Given the description of an element on the screen output the (x, y) to click on. 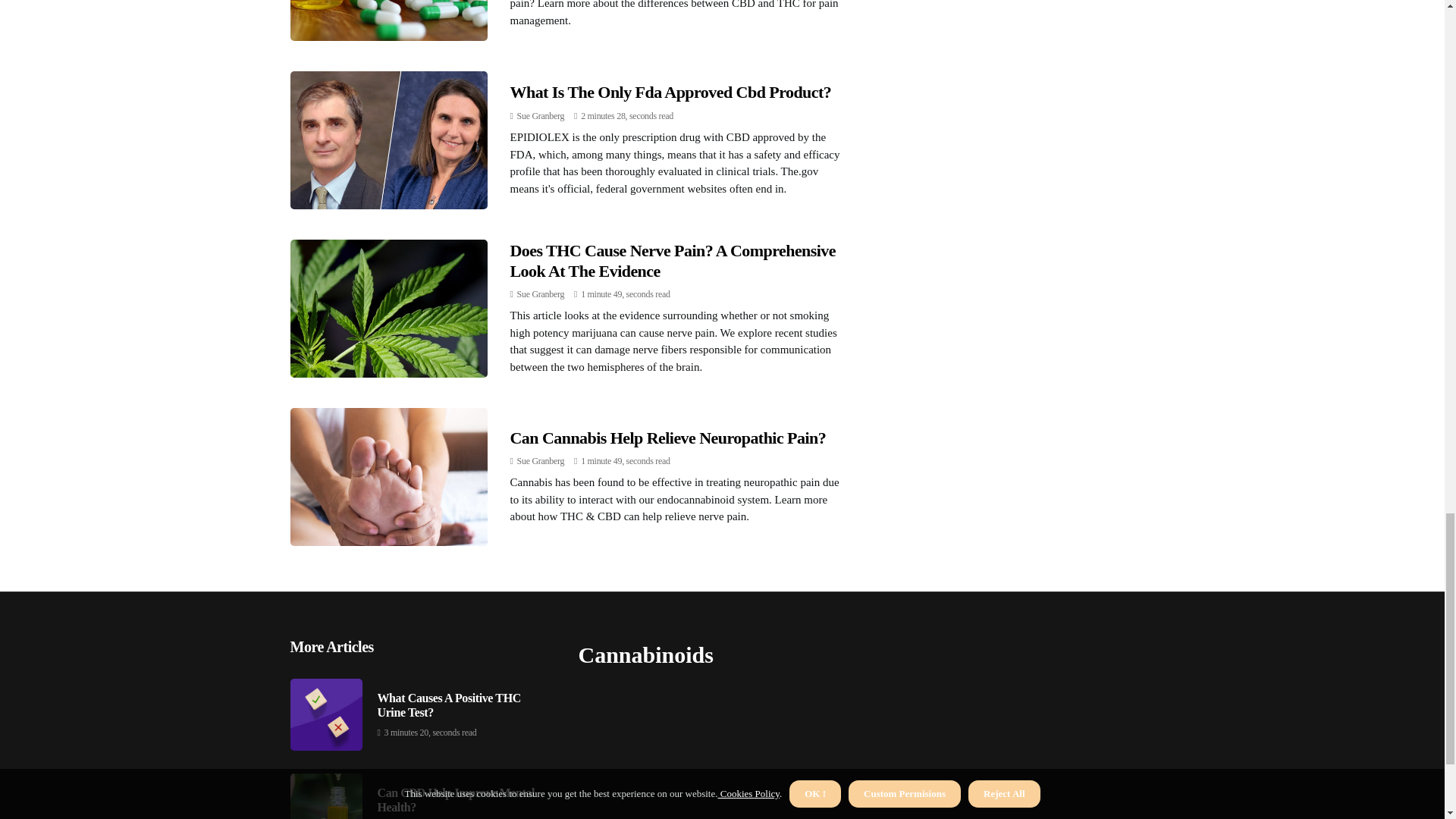
Posts by Sue Granberg (540, 294)
What Is The Only Fda Approved Cbd Product? (670, 91)
Posts by Sue Granberg (540, 460)
Posts by Sue Granberg (540, 115)
Sue Granberg (540, 460)
Can Cannabis Help Relieve Neuropathic Pain? (667, 437)
Sue Granberg (540, 294)
Sue Granberg (540, 115)
